Given the description of an element on the screen output the (x, y) to click on. 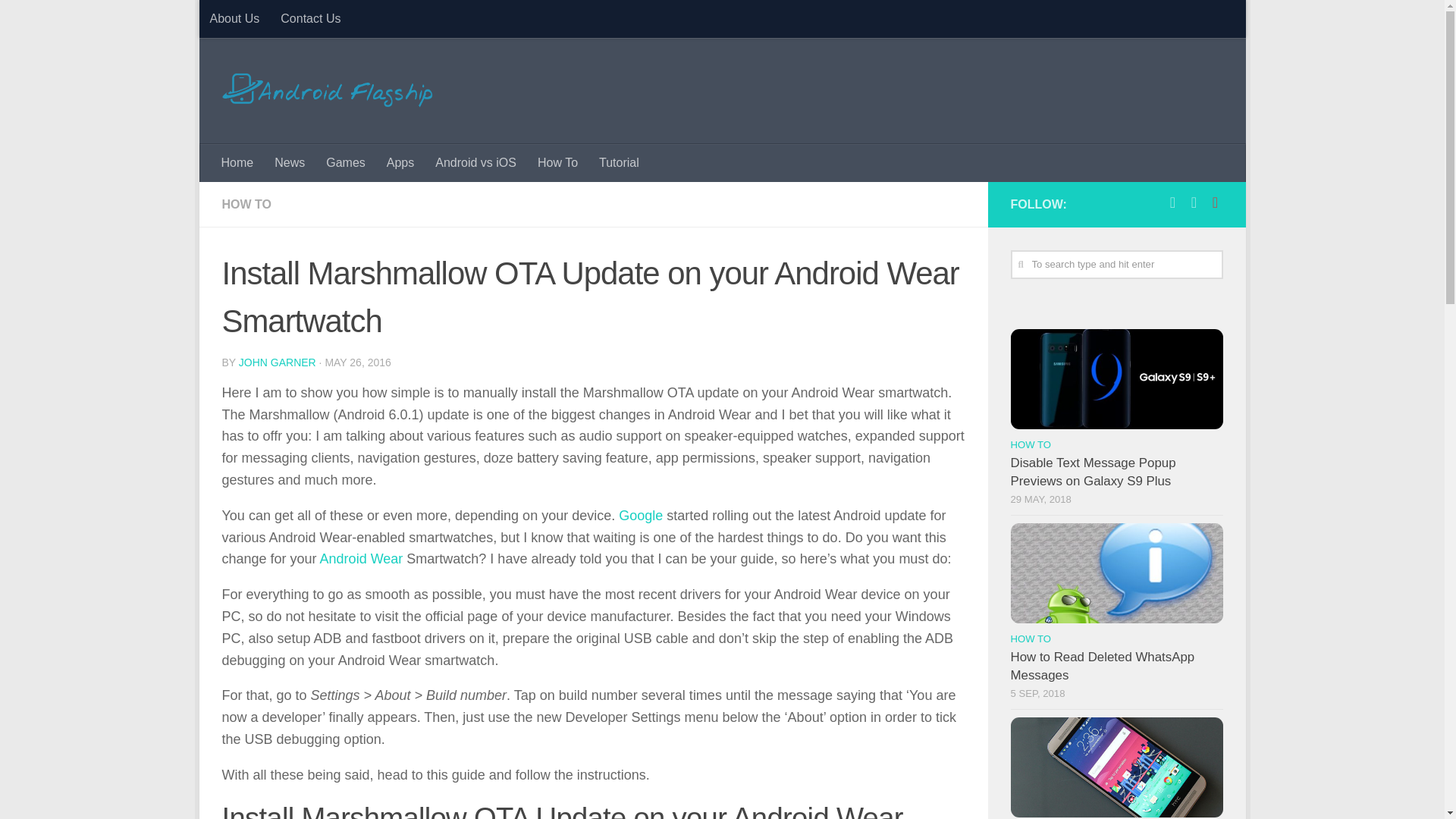
Follow us on Facebook (1171, 201)
How To (557, 162)
To search type and hit enter (1116, 264)
Contact Us (309, 18)
Home (237, 162)
About Us (233, 18)
Google (640, 515)
Tutorial (618, 162)
To search type and hit enter (1116, 264)
JOHN GARNER (276, 362)
Android Wear (361, 558)
HOW TO (245, 204)
Games (345, 162)
Android vs iOS (476, 162)
News (289, 162)
